Given the description of an element on the screen output the (x, y) to click on. 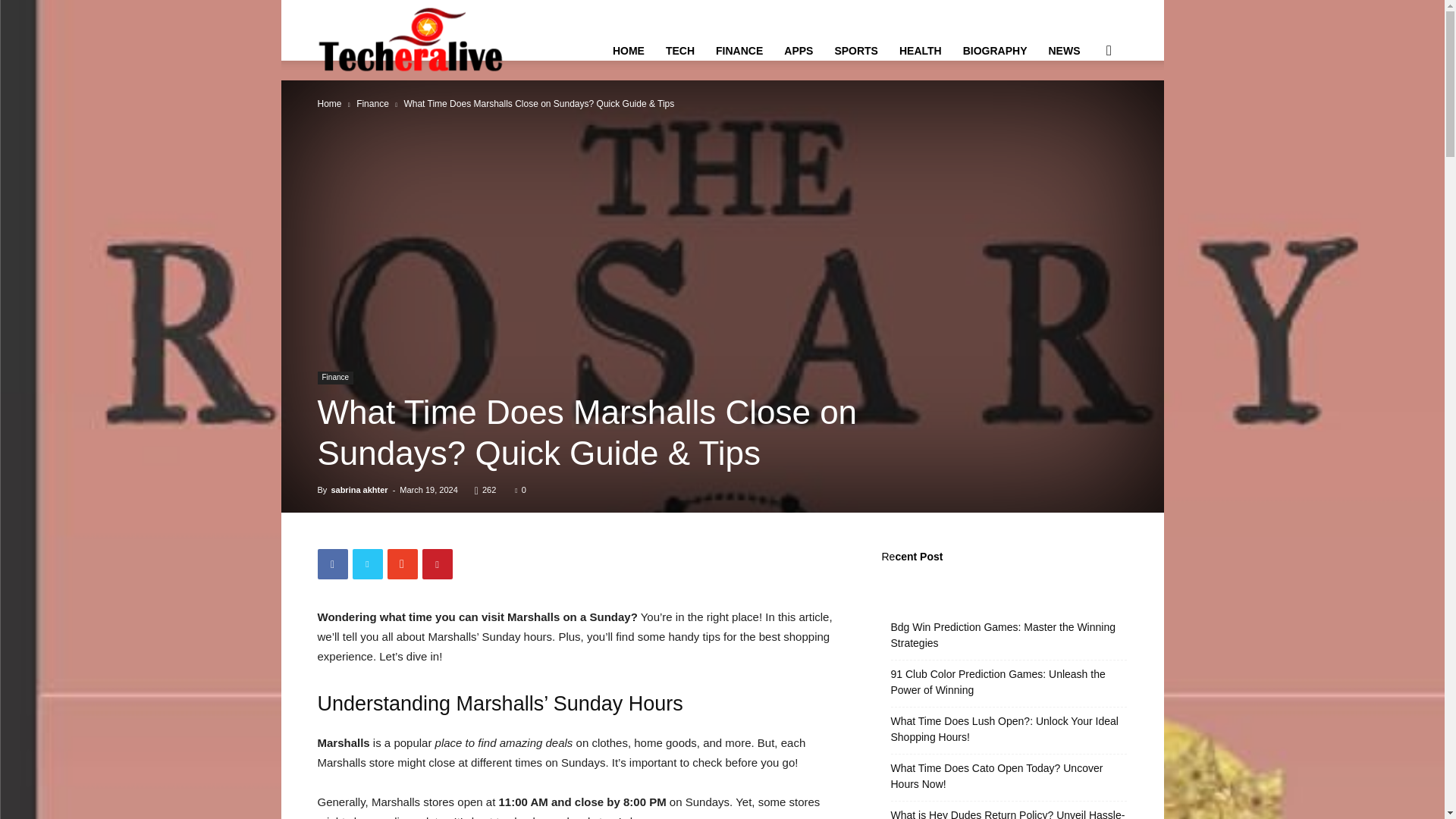
BIOGRAPHY (995, 50)
View all posts in Finance (372, 103)
HOME (628, 50)
0 (520, 489)
Finance (372, 103)
TECH (679, 50)
HEALTH (920, 50)
Finance (335, 377)
My Blog (412, 39)
Home (328, 103)
Search (1085, 122)
sabrina akhter (358, 489)
NEWS (1063, 50)
SPORTS (856, 50)
APPS (798, 50)
